Given the description of an element on the screen output the (x, y) to click on. 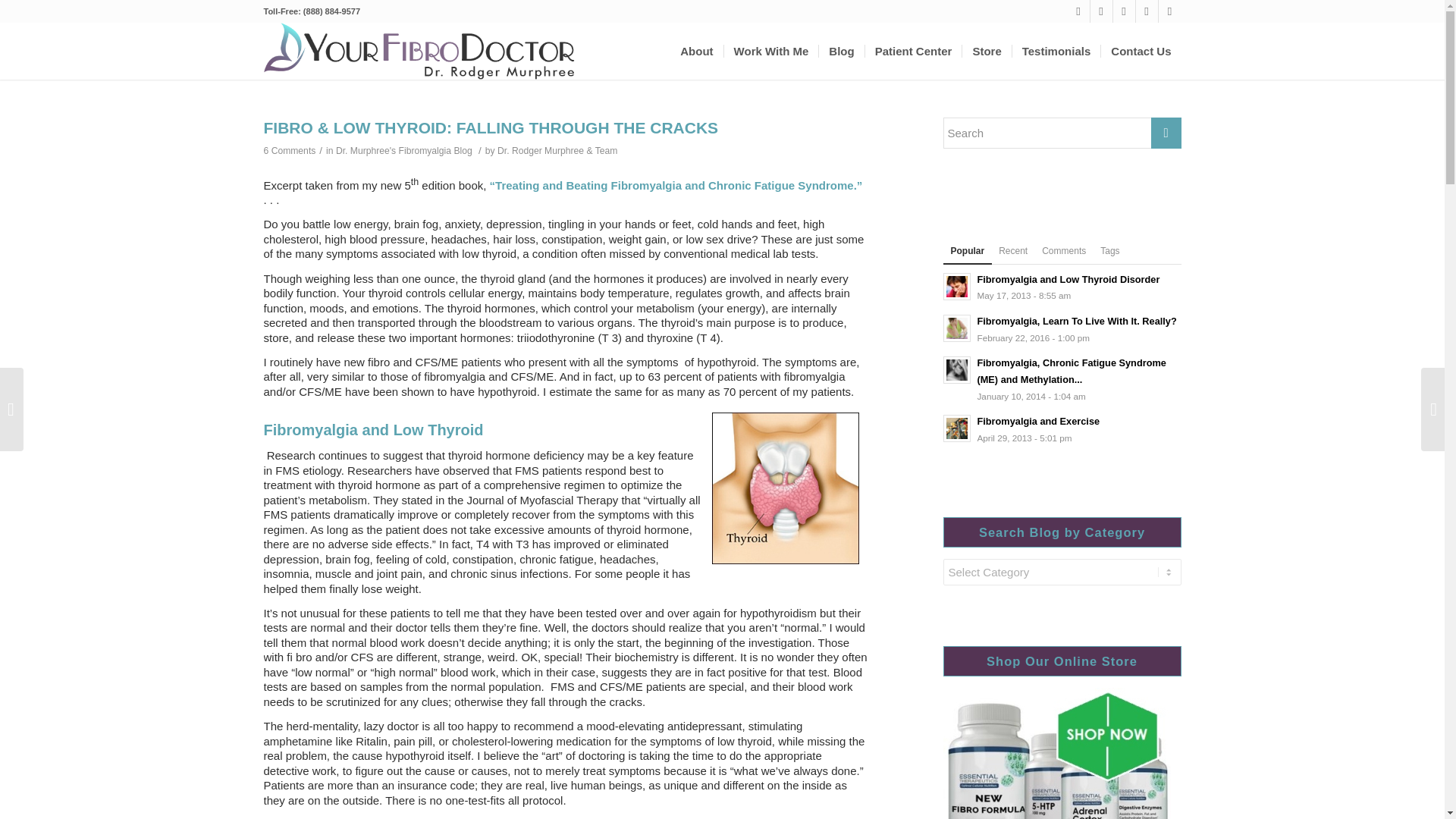
Contact Us (1140, 50)
Instagram (1101, 11)
Youtube (1146, 11)
About (695, 50)
Facebook (1078, 11)
Twitter (1124, 11)
6 Comments (289, 150)
Blog (840, 50)
Testimonials (1055, 50)
Store (985, 50)
Work With Me (770, 50)
Dr. Murphree's Fibromyalgia Blog (403, 150)
Patient Center (913, 50)
Mail (1169, 11)
